Given the description of an element on the screen output the (x, y) to click on. 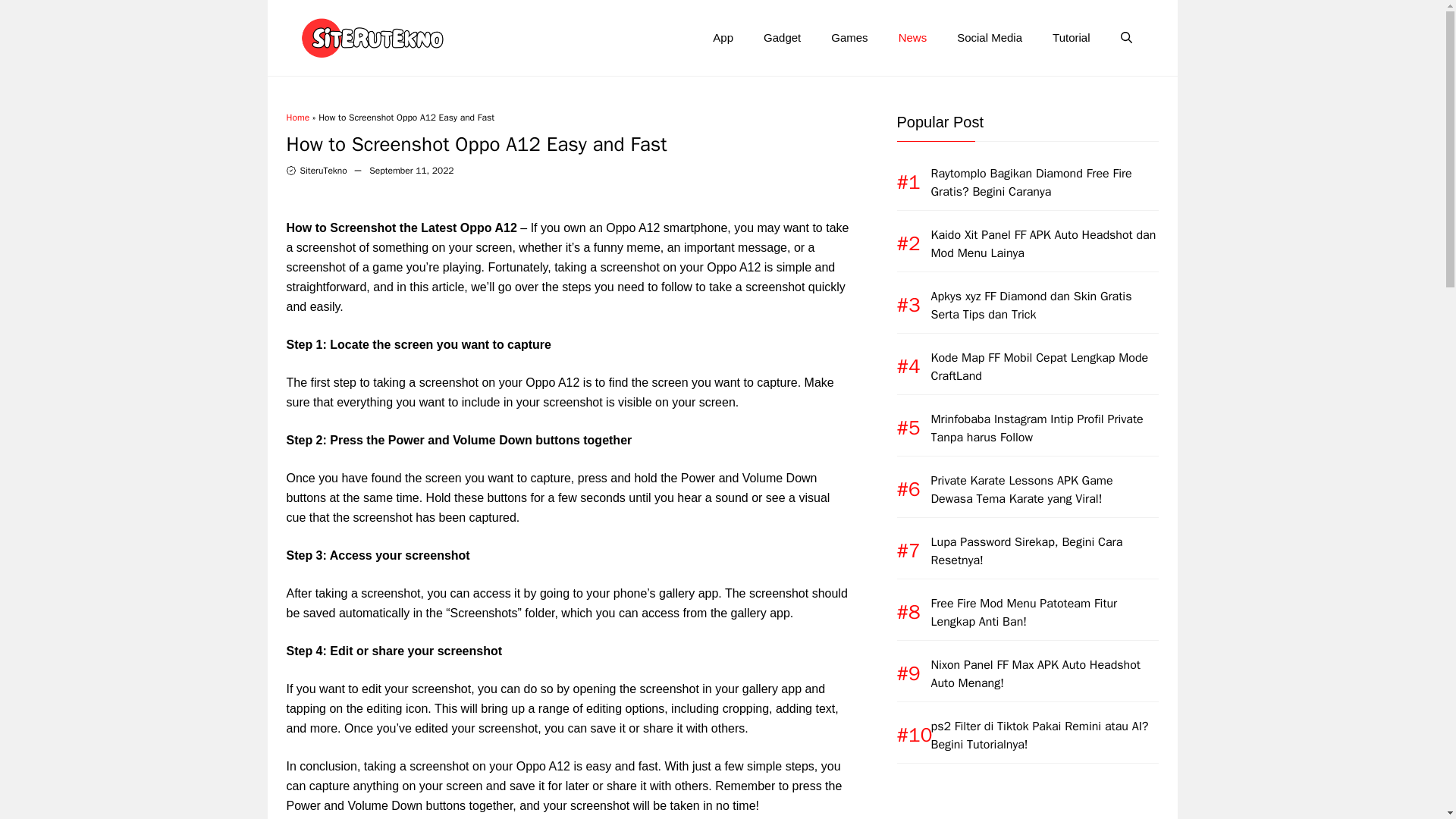
News (912, 37)
App (722, 37)
Games (848, 37)
Gadget (781, 37)
Social Media (989, 37)
Tutorial (1070, 37)
SiteruTekno (323, 170)
Home (298, 117)
